Given the description of an element on the screen output the (x, y) to click on. 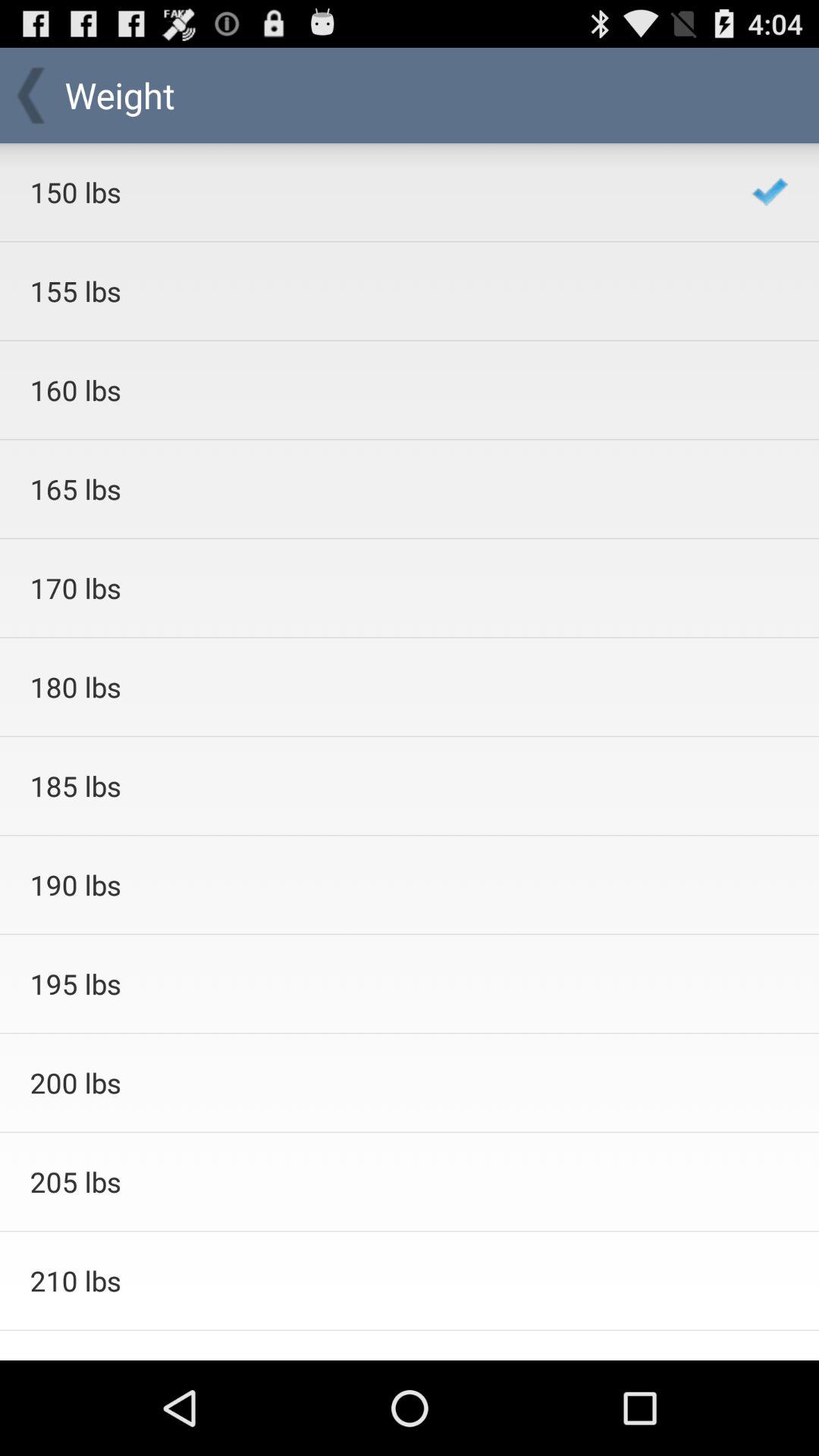
flip until 205 lbs app (371, 1181)
